Given the description of an element on the screen output the (x, y) to click on. 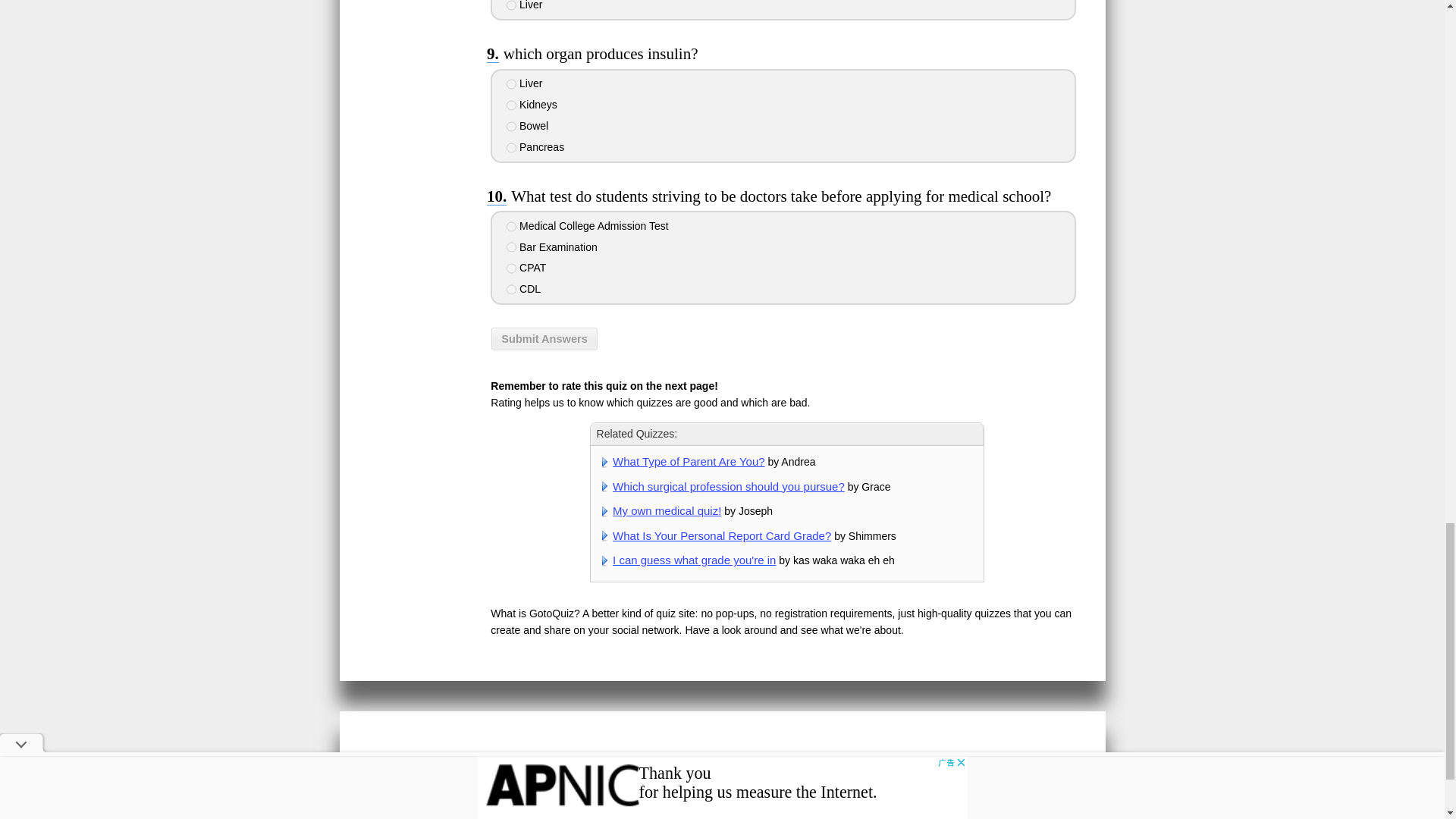
I can guess what grade you're in (694, 559)
Submit Answers (544, 338)
My own medical quiz! (666, 510)
What Is Your Personal Report Card Grade? (721, 535)
What Type of Parent Are You? (688, 461)
Privacy Policy (699, 759)
Contact (764, 759)
Which surgical profession should you pursue? (728, 486)
